Given the description of an element on the screen output the (x, y) to click on. 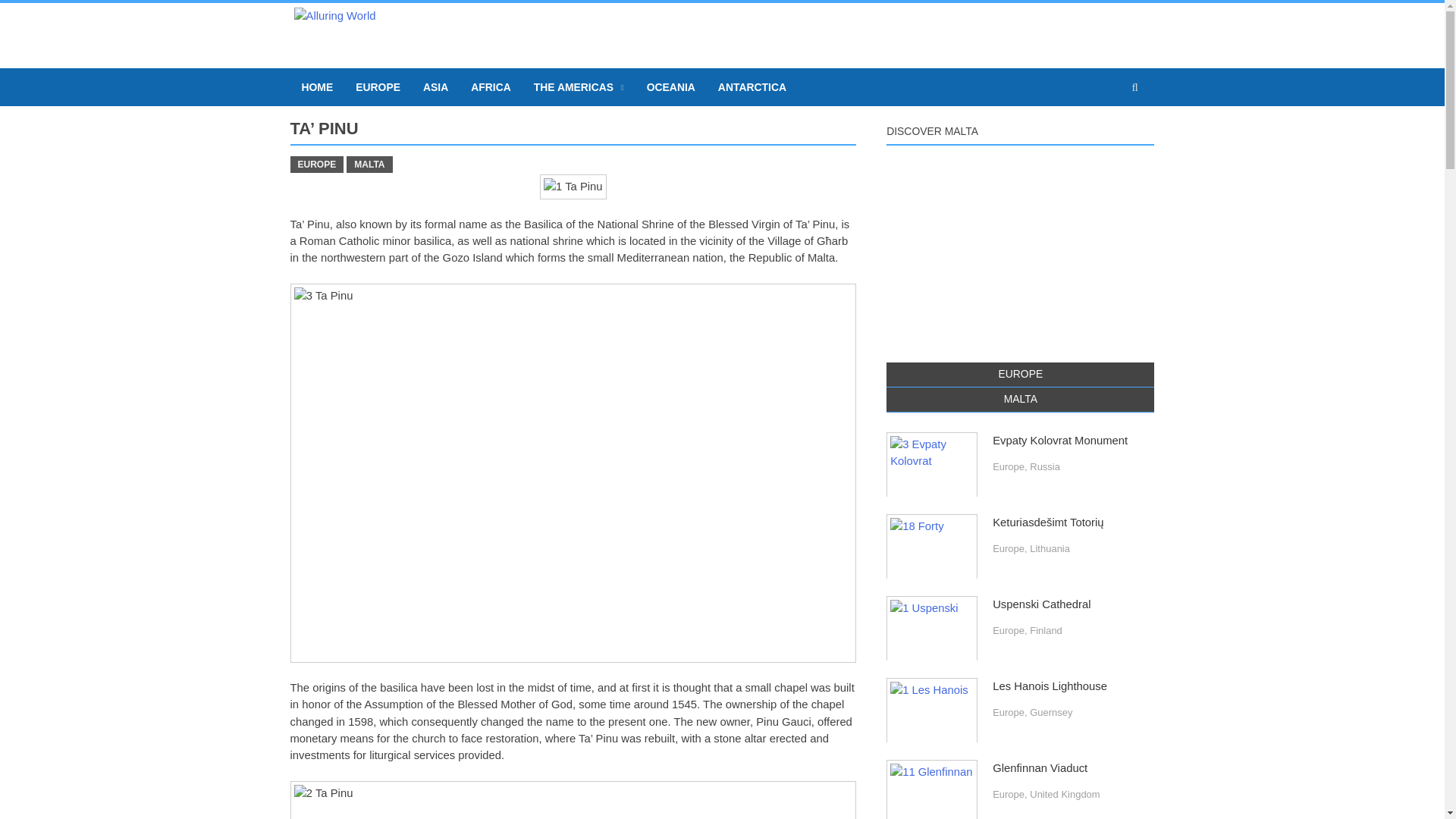
Europe (1008, 630)
THE AMERICAS (578, 86)
Europe (1008, 466)
ANTARCTICA (751, 86)
Lithuania (1049, 548)
Uspenski Cathedral (1041, 604)
MALTA (1020, 399)
EUROPE (377, 86)
EUROPE (1020, 374)
OCEANIA (670, 86)
Evpaty Kolovrat Monument (931, 465)
MALTA (368, 164)
Evpaty Kolovrat Monument (1059, 440)
HOME (316, 86)
